Given the description of an element on the screen output the (x, y) to click on. 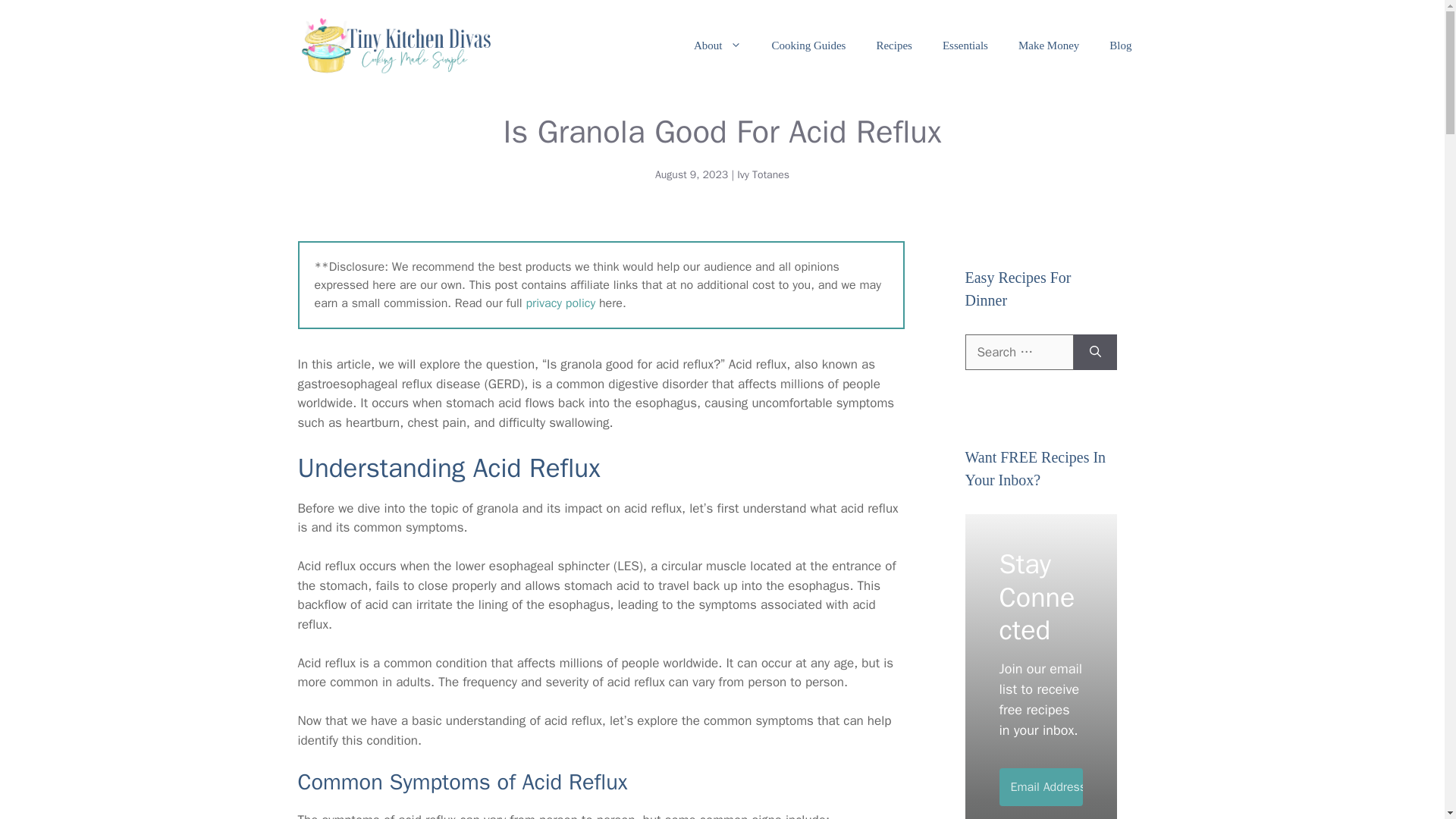
Ivy Totanes (762, 174)
About (717, 44)
Recipes (893, 44)
privacy policy (560, 303)
Blog (1120, 44)
Make Money (1048, 44)
Search for: (1018, 352)
Essentials (965, 44)
View all posts by Ivy Totanes (762, 174)
Cooking Guides (809, 44)
